Given the description of an element on the screen output the (x, y) to click on. 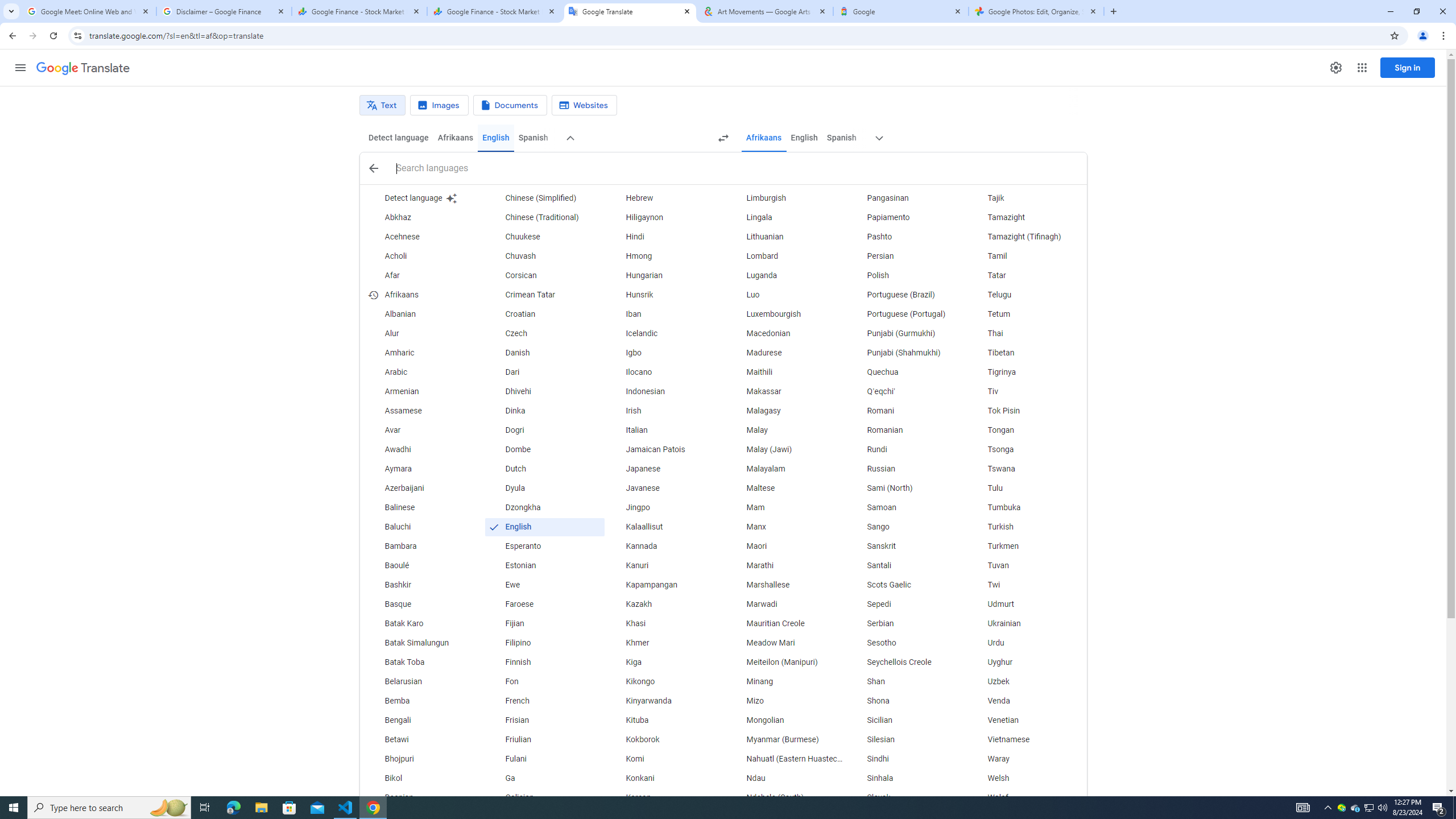
Meadow Mari (785, 642)
Acehnese (423, 236)
Swap languages (Ctrl+Shift+S) (723, 137)
More target languages (879, 137)
Korean (665, 797)
Italian (665, 430)
Iban (665, 314)
Punjabi (Gurmukhi) (905, 334)
Portuguese (Portugal) (905, 314)
Scots Gaelic (905, 584)
Afrikaans (763, 137)
Macedonian (785, 334)
Corsican (544, 275)
